Given the description of an element on the screen output the (x, y) to click on. 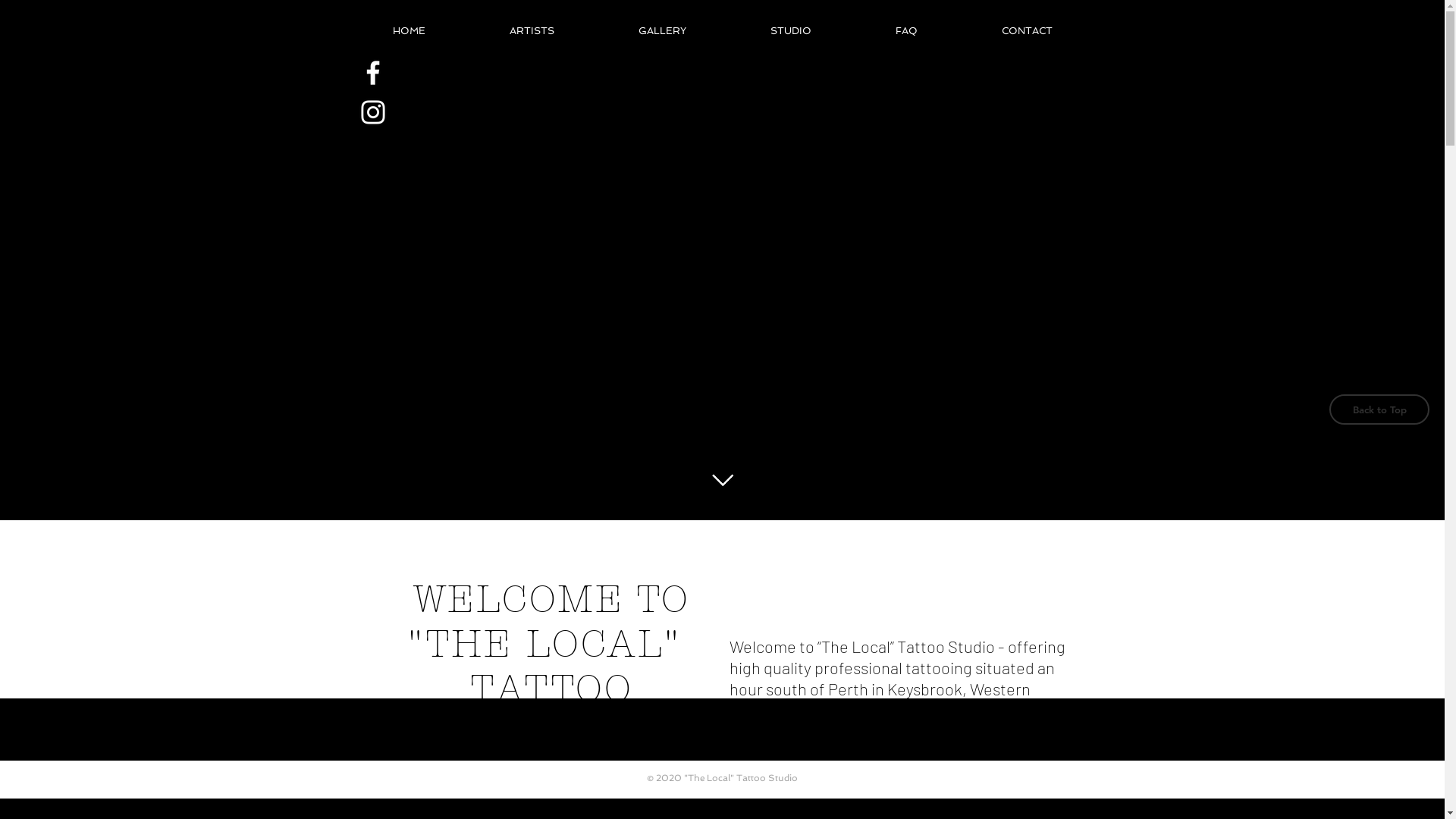
STUDIO Element type: text (790, 30)
Back to Top Element type: text (1379, 409)
FAQ Element type: text (906, 30)
ARTISTS Element type: text (531, 30)
GALLERY Element type: text (662, 30)
CONTACT Element type: text (1027, 30)
HOME Element type: text (408, 30)
